Given the description of an element on the screen output the (x, y) to click on. 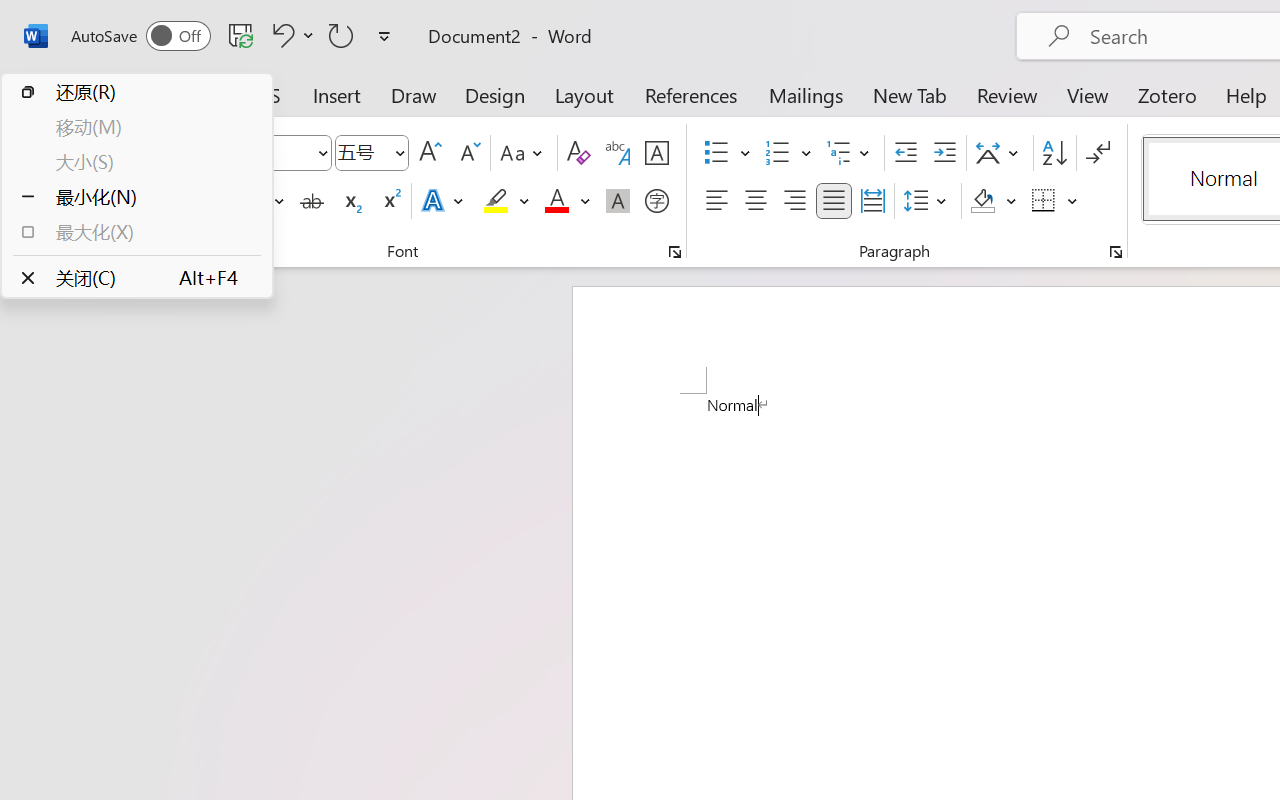
Underline (261, 201)
Paragraph... (1115, 252)
Sort... (1054, 153)
Zotero (1166, 94)
Center (756, 201)
Decrease Indent (906, 153)
Cut (112, 141)
Change Case (524, 153)
Format Painter (112, 218)
OfficePLUS (233, 94)
Font Color Red (556, 201)
Design (495, 94)
Open (399, 152)
Enclose Characters... (656, 201)
